Given the description of an element on the screen output the (x, y) to click on. 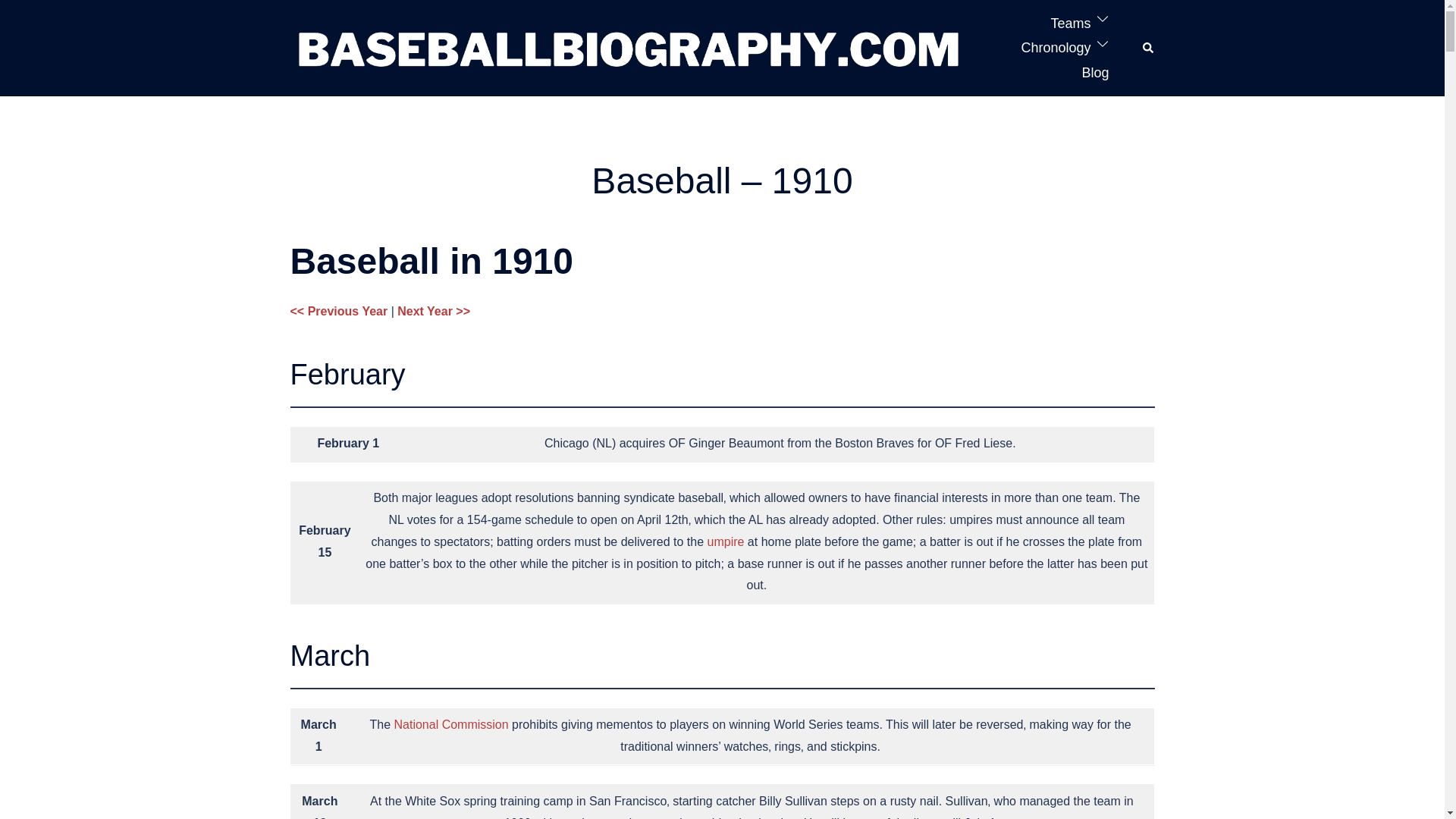
Search (1147, 47)
umpire (725, 541)
umpire (725, 541)
Teams (1069, 23)
National Commission (450, 724)
BaseballBiography.com (627, 47)
Chronology (1055, 47)
Blog (1094, 72)
National Commission (450, 724)
